Given the description of an element on the screen output the (x, y) to click on. 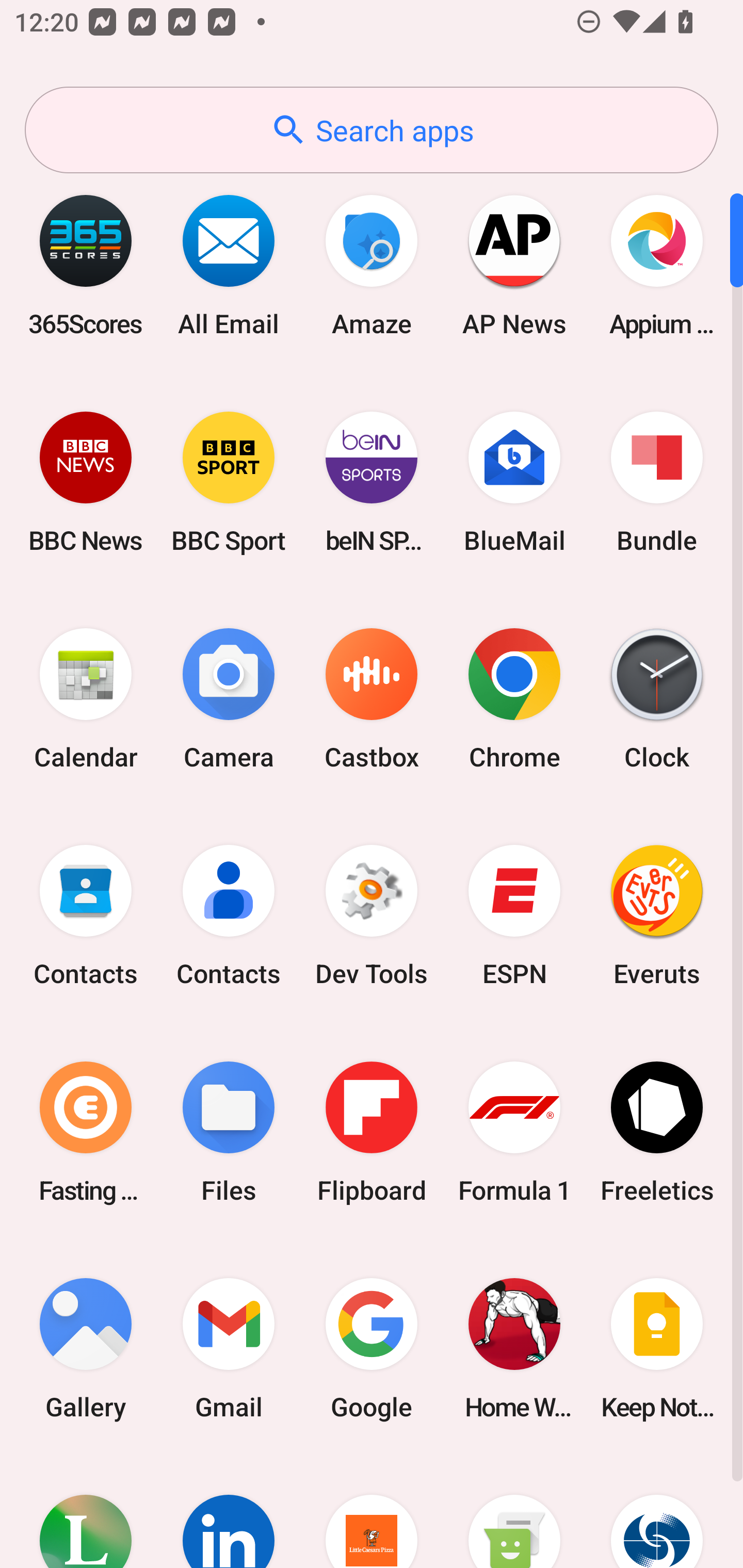
  Search apps (371, 130)
365Scores (85, 264)
All Email (228, 264)
Amaze (371, 264)
AP News (514, 264)
Appium Settings (656, 264)
BBC News (85, 482)
BBC Sport (228, 482)
beIN SPORTS (371, 482)
BlueMail (514, 482)
Bundle (656, 482)
Calendar (85, 699)
Camera (228, 699)
Castbox (371, 699)
Chrome (514, 699)
Clock (656, 699)
Contacts (85, 915)
Contacts (228, 915)
Dev Tools (371, 915)
ESPN (514, 915)
Everuts (656, 915)
Fasting Coach (85, 1131)
Files (228, 1131)
Flipboard (371, 1131)
Formula 1 (514, 1131)
Freeletics (656, 1131)
Gallery (85, 1348)
Gmail (228, 1348)
Google (371, 1348)
Home Workout (514, 1348)
Keep Notes (656, 1348)
